Given the description of an element on the screen output the (x, y) to click on. 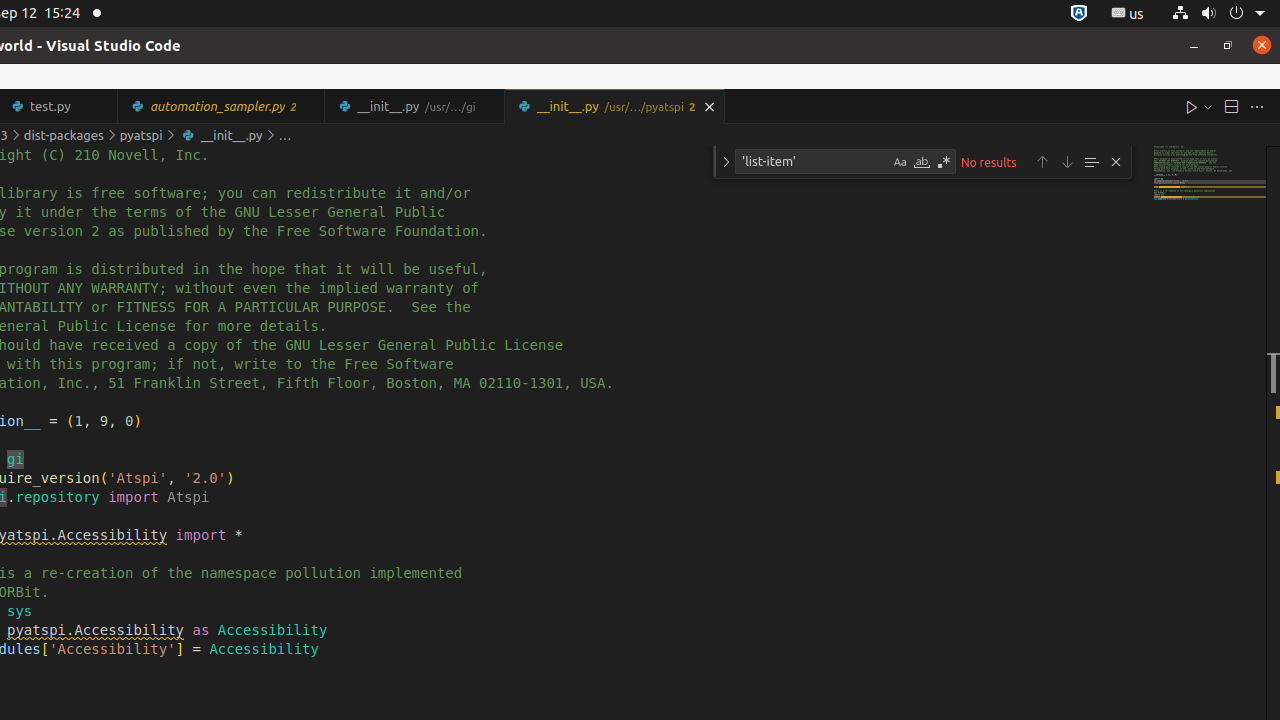
Previous Match (Shift+Enter) Element type: push-button (1042, 161)
Run Python File Element type: push-button (1192, 106)
